Given the description of an element on the screen output the (x, y) to click on. 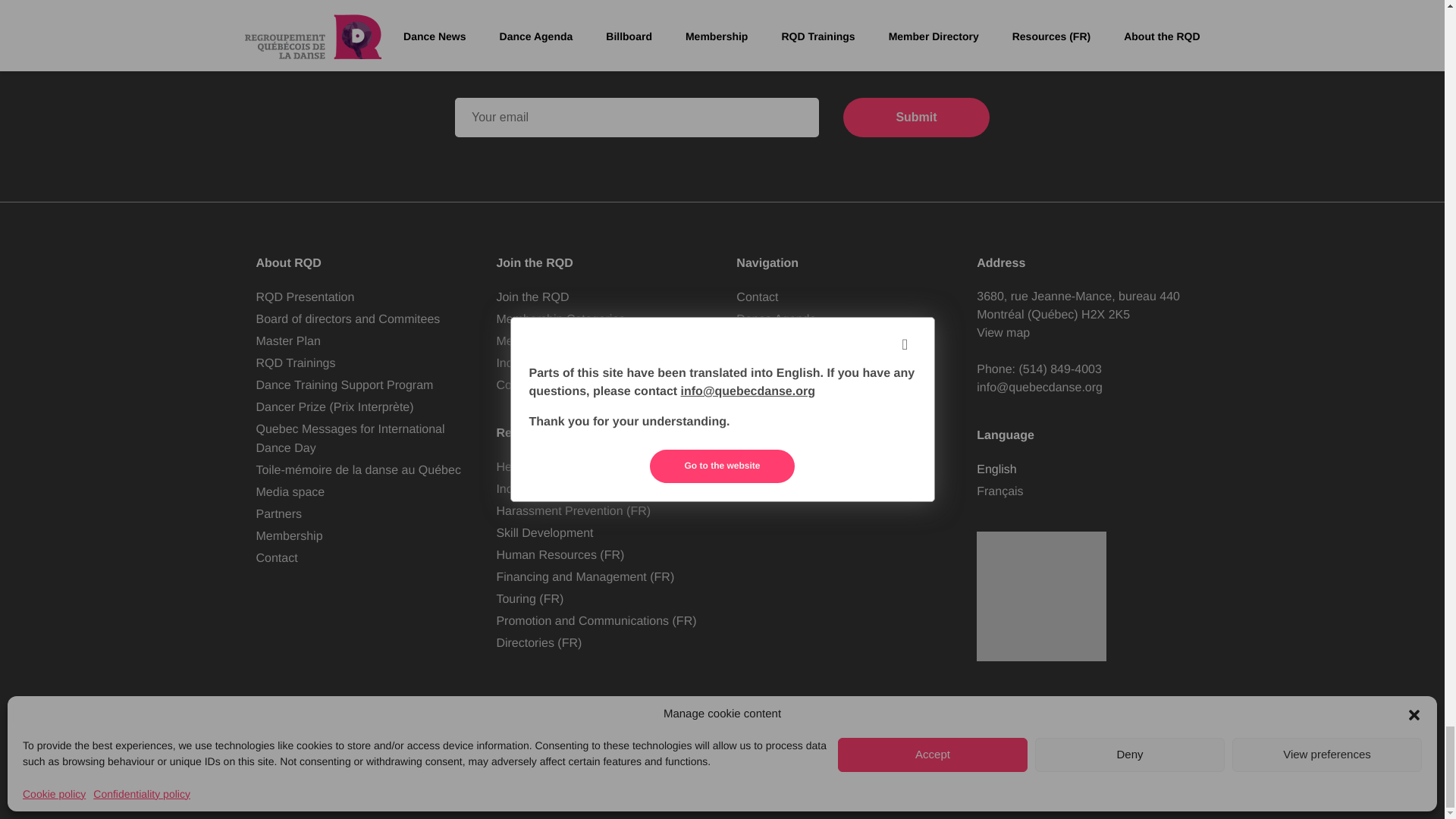
Submit (916, 117)
